Given the description of an element on the screen output the (x, y) to click on. 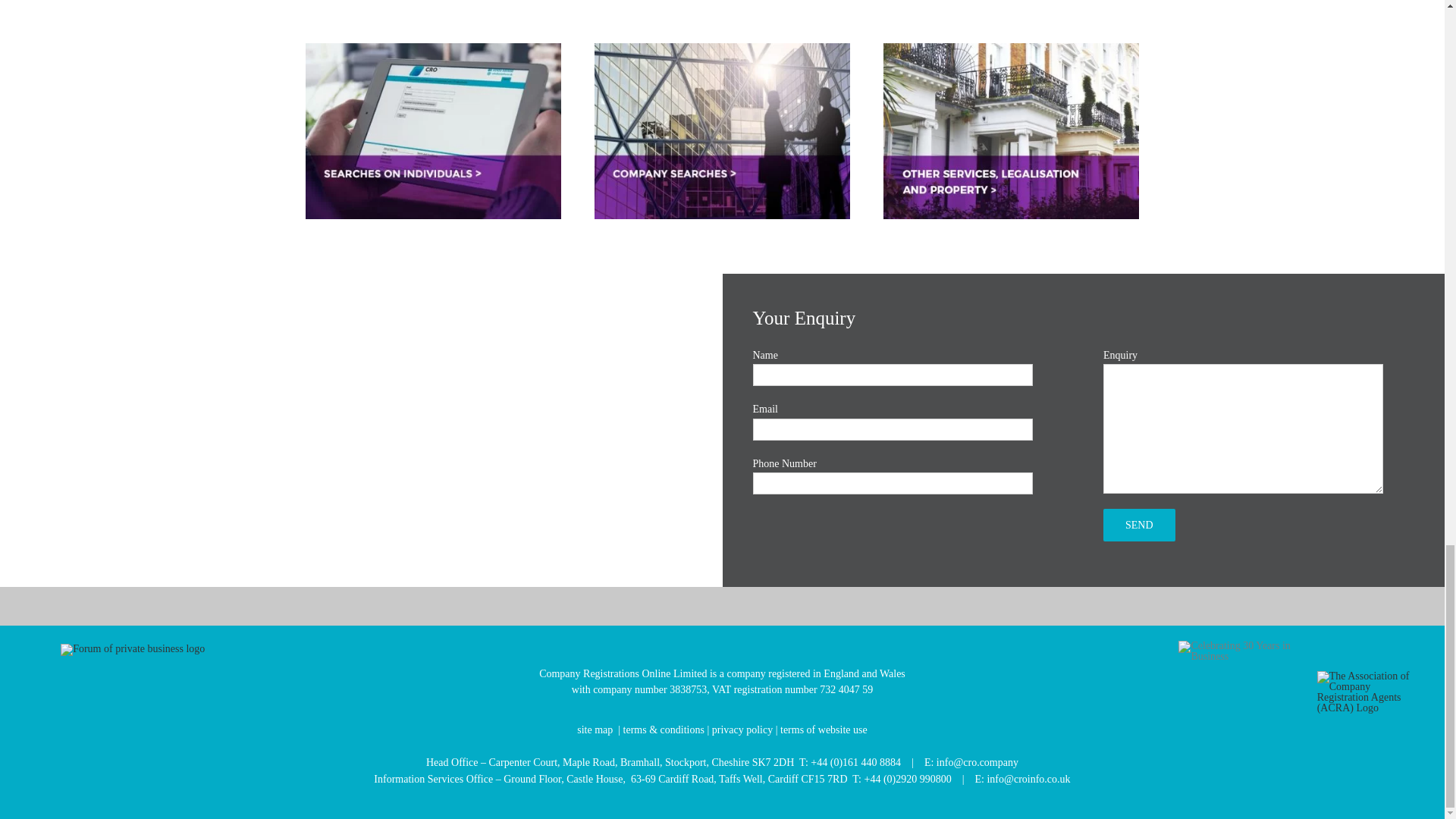
Celebrating 30 Years in Business (1241, 650)
Send (1138, 524)
